Given the description of an element on the screen output the (x, y) to click on. 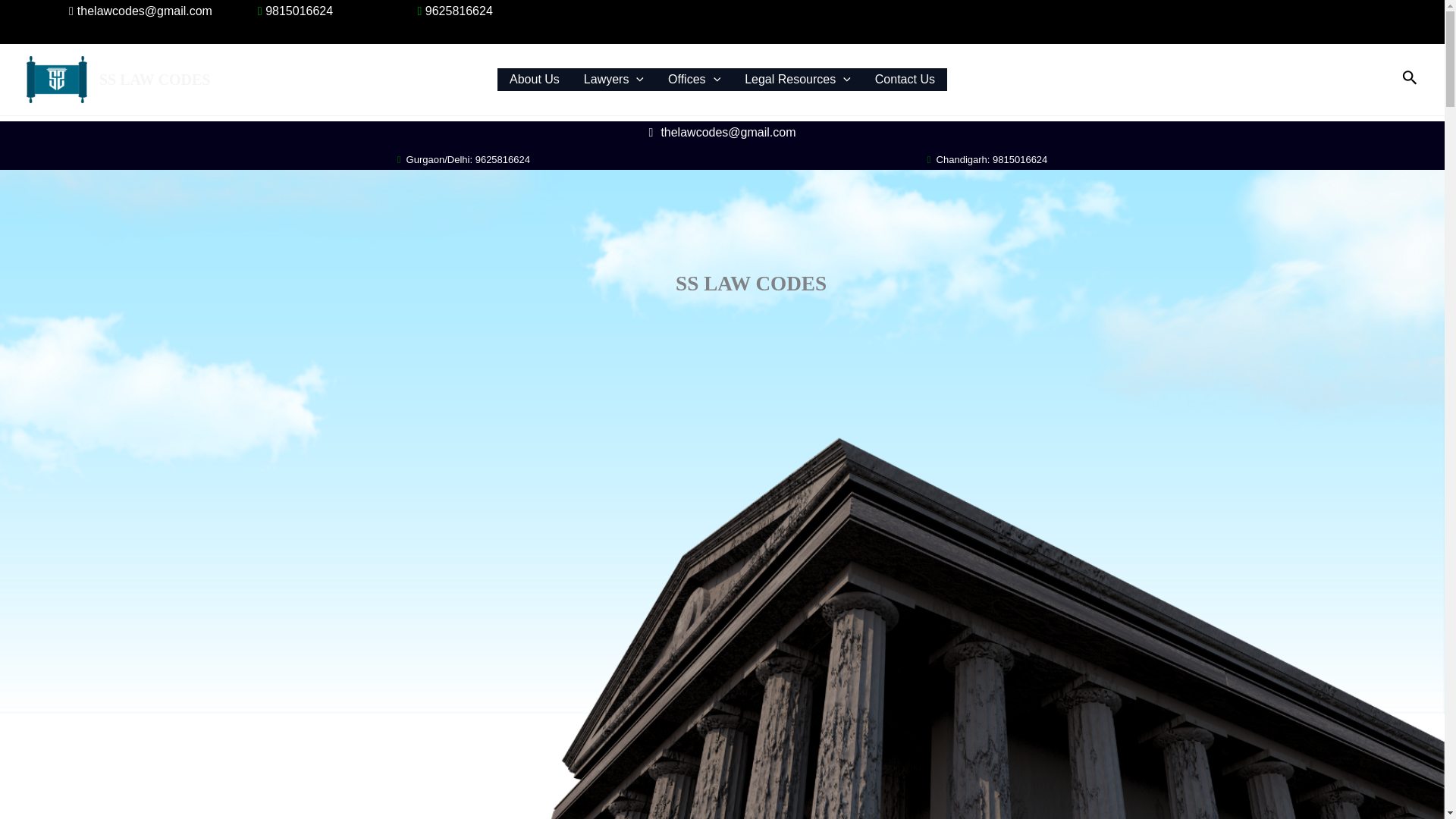
Lawyers (614, 78)
About Us (534, 78)
Legal Resources (797, 78)
 9815016624 (292, 11)
Offices (694, 78)
Contact Us (905, 78)
SS LAW CODES (154, 79)
 9625816624 (452, 11)
